Given the description of an element on the screen output the (x, y) to click on. 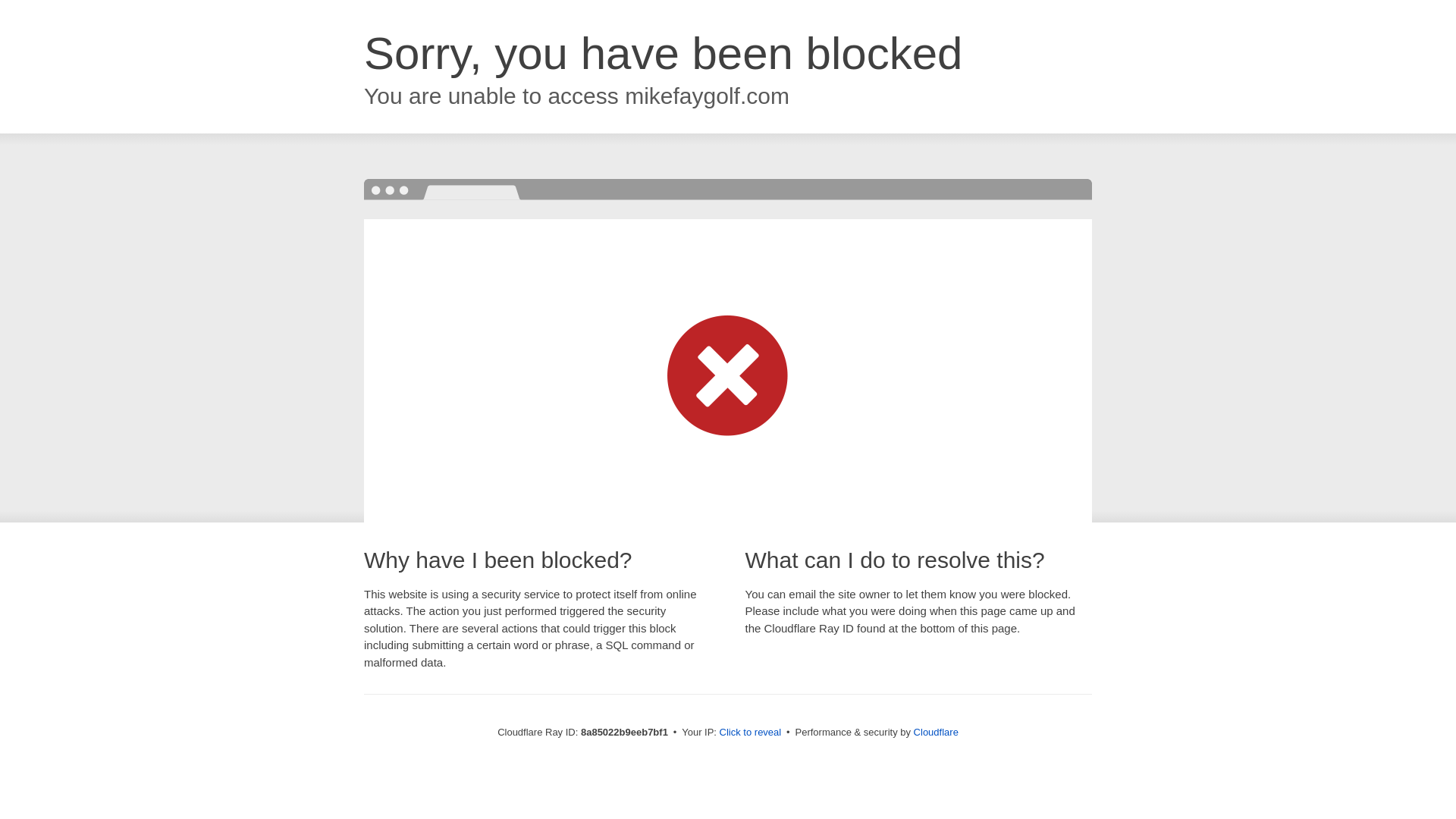
Cloudflare (936, 731)
Click to reveal (750, 732)
